Given the description of an element on the screen output the (x, y) to click on. 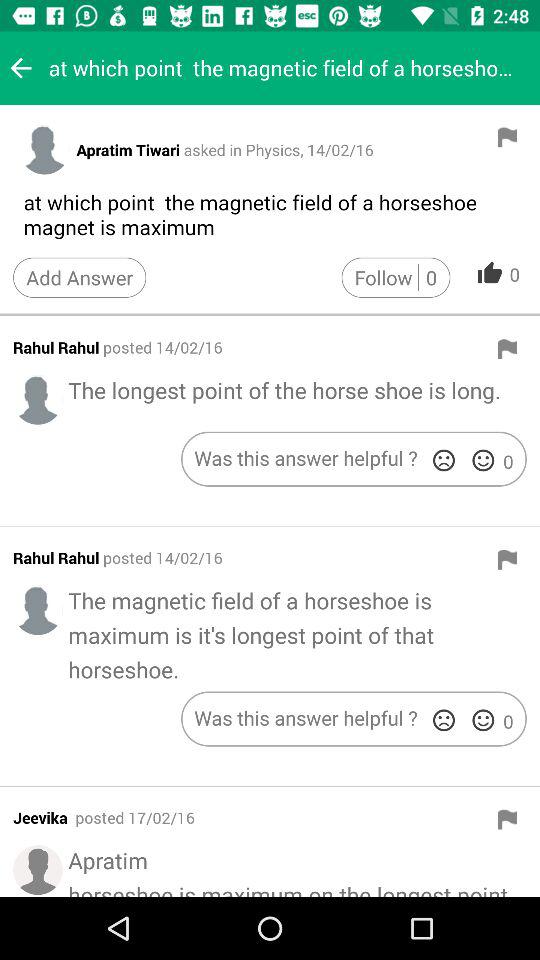
view profile (38, 610)
